Given the description of an element on the screen output the (x, y) to click on. 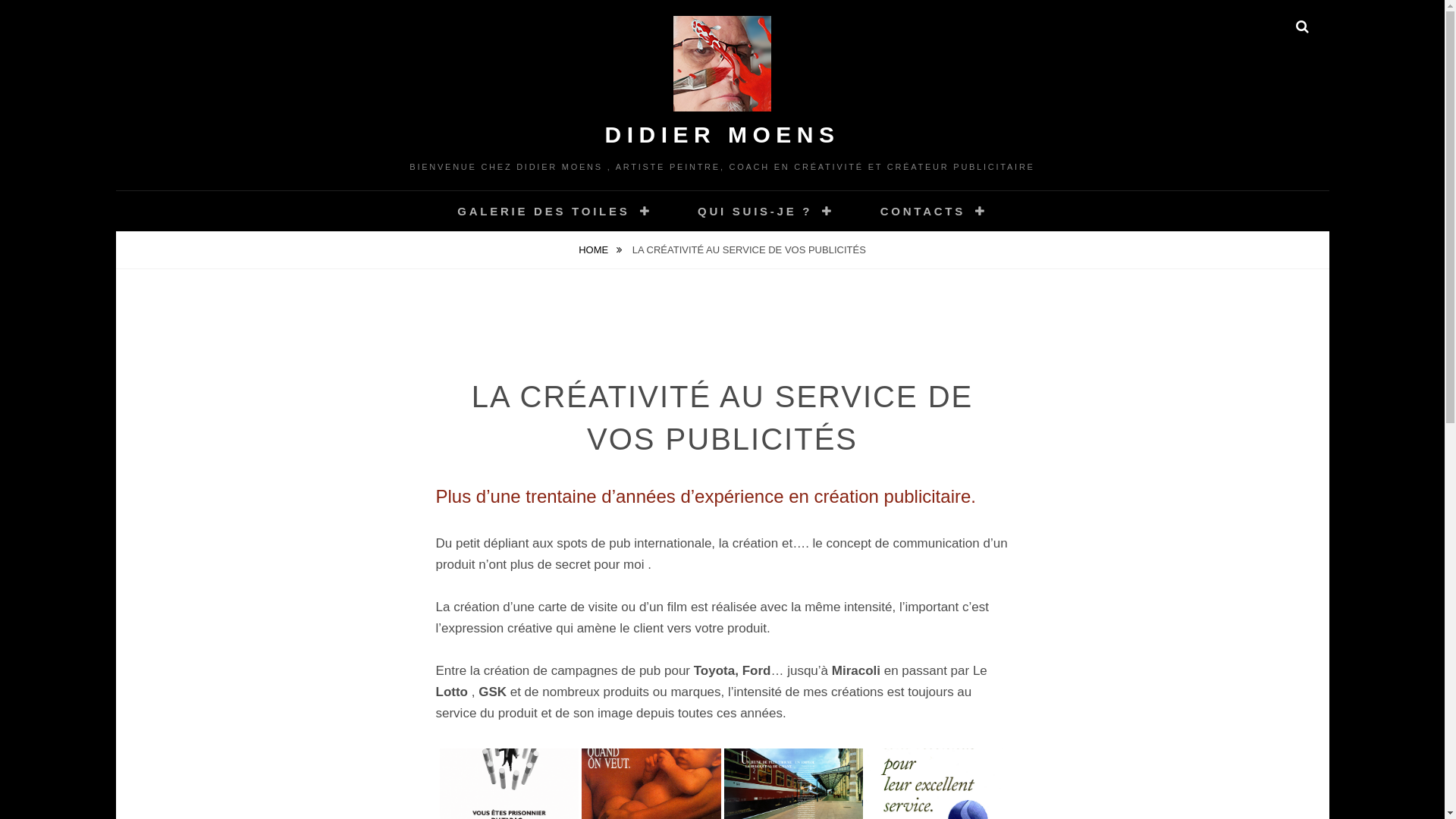
DIDIER MOENS Element type: text (721, 134)
QUI SUIS-JE ? Element type: text (765, 211)
SEARCH Element type: text (1302, 26)
HOME Element type: text (600, 249)
CONTACTS Element type: text (933, 211)
GALERIE DES TOILES Element type: text (554, 211)
